Given the description of an element on the screen output the (x, y) to click on. 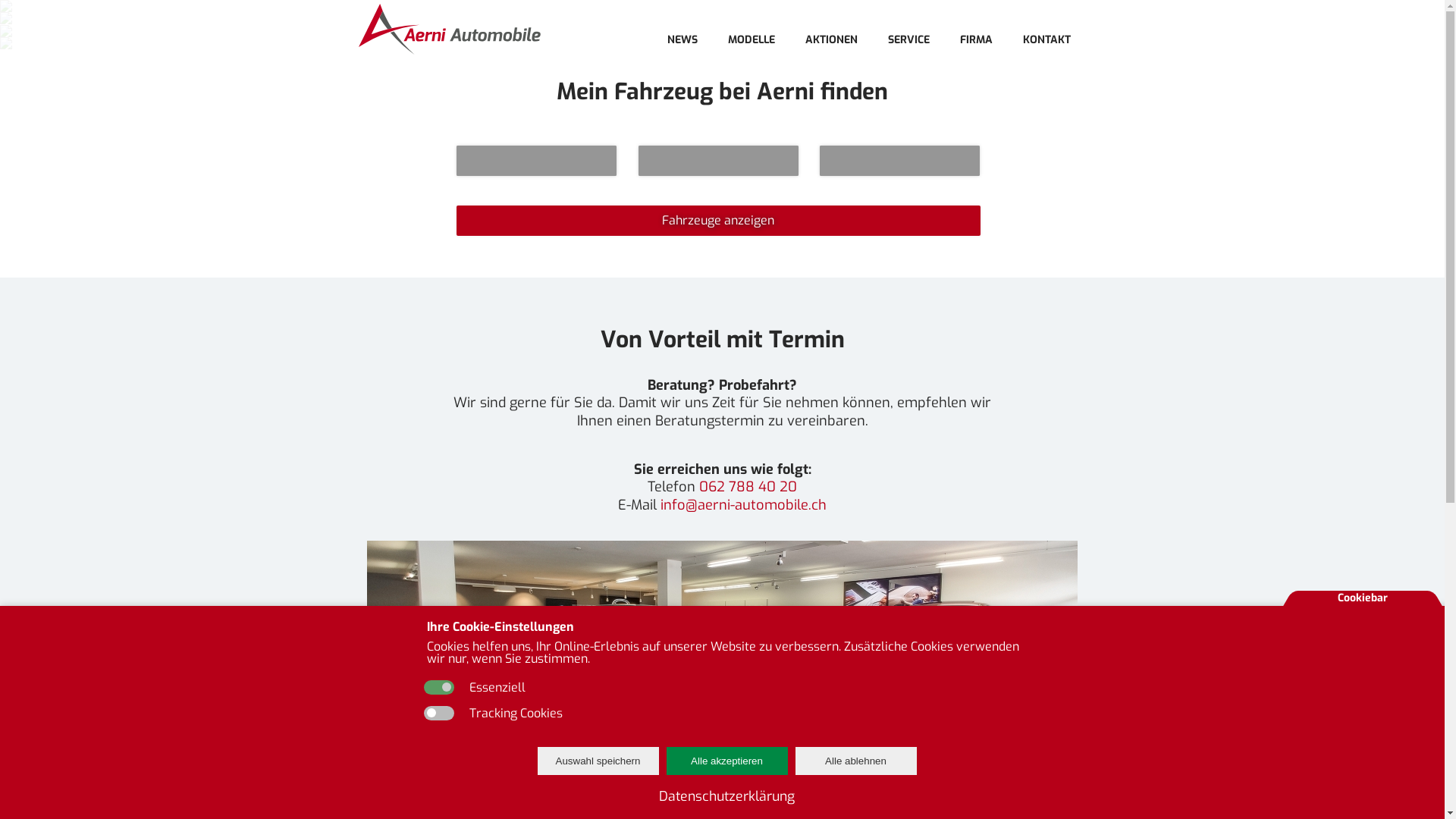
SERVICE Element type: text (908, 39)
MODELLE Element type: text (751, 39)
info@aerni-automobile.ch Element type: text (743, 504)
Auswahl speichern Element type: text (597, 760)
Alle akzeptieren Element type: text (726, 760)
AKTIONEN Element type: text (831, 39)
KONTAKT Element type: text (1046, 39)
FIRMA Element type: text (975, 39)
NEWS Element type: text (682, 39)
062 788 40 20 Element type: text (748, 486)
Alle ablehnen Element type: text (855, 760)
Fahrzeuge anzeigen Element type: text (717, 220)
